Given the description of an element on the screen output the (x, y) to click on. 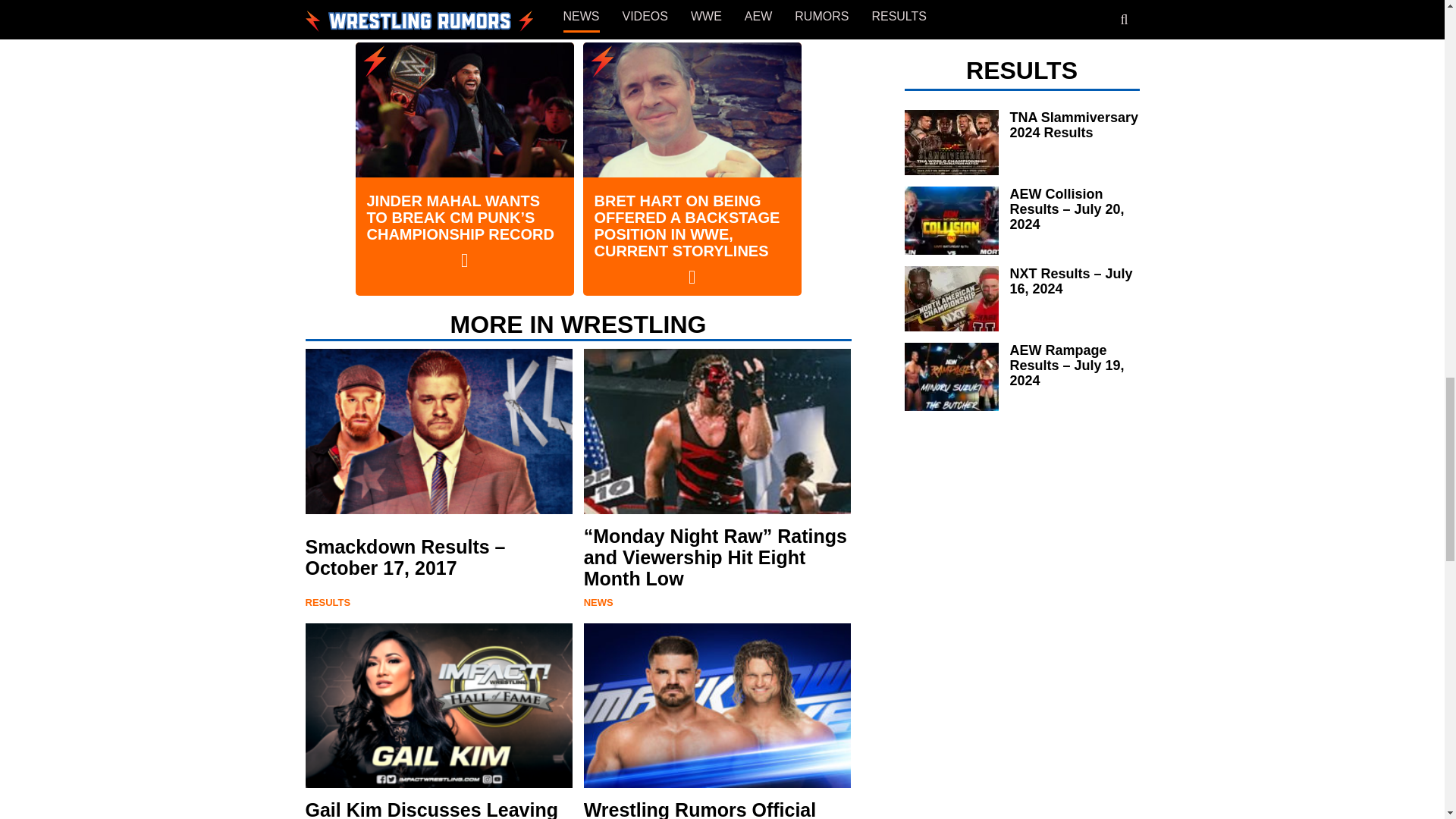
Android (497, 11)
News (597, 602)
NEWS (597, 602)
Results (327, 602)
iOS (556, 11)
RESULTS (327, 602)
